Given the description of an element on the screen output the (x, y) to click on. 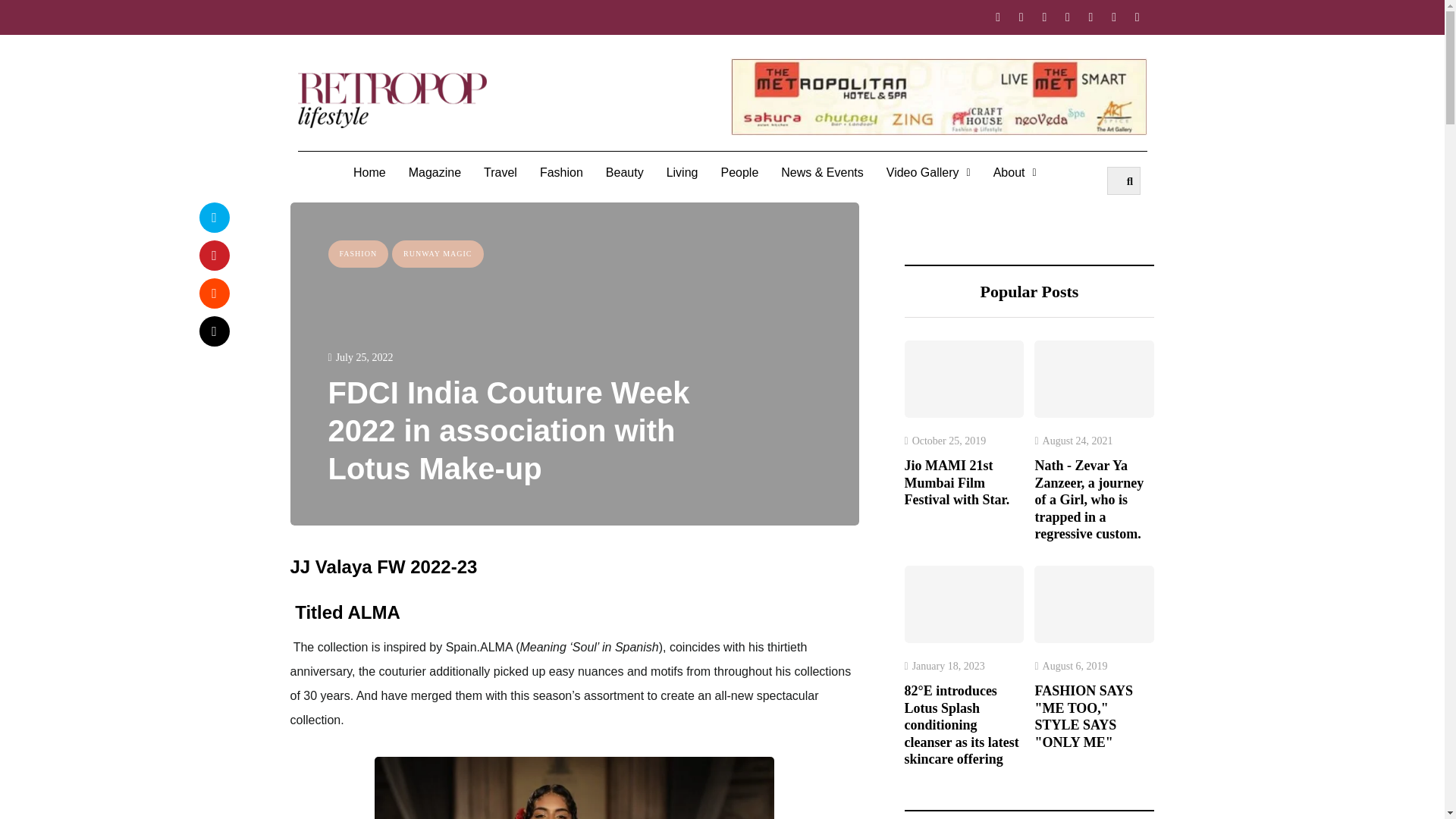
Share on Reddit (213, 292)
Search (1123, 180)
Magazine (434, 173)
Home (369, 173)
Share by Email (213, 330)
Pin this (213, 254)
Video Gallery (928, 173)
RUNWAY MAGIC (437, 252)
Fashion (561, 173)
Travel (499, 173)
Living (682, 173)
FASHION (357, 252)
Beauty (624, 173)
People (739, 173)
